Given the description of an element on the screen output the (x, y) to click on. 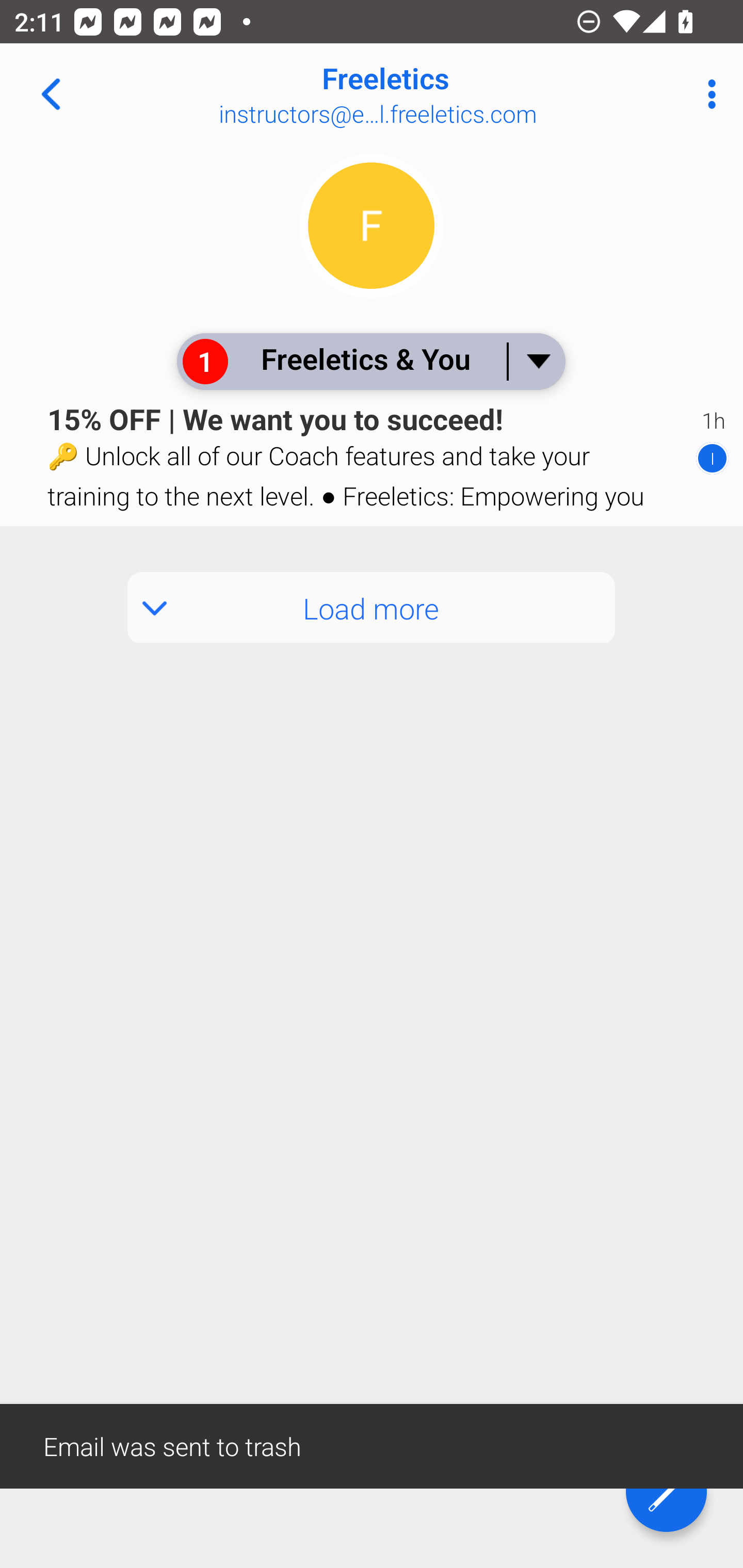
Navigate up (50, 93)
Freeletics instructors@email.freeletics.com (436, 93)
More Options (706, 93)
1 Freeletics & You (370, 361)
Load more (371, 607)
Email was sent to trash (371, 1445)
